Given the description of an element on the screen output the (x, y) to click on. 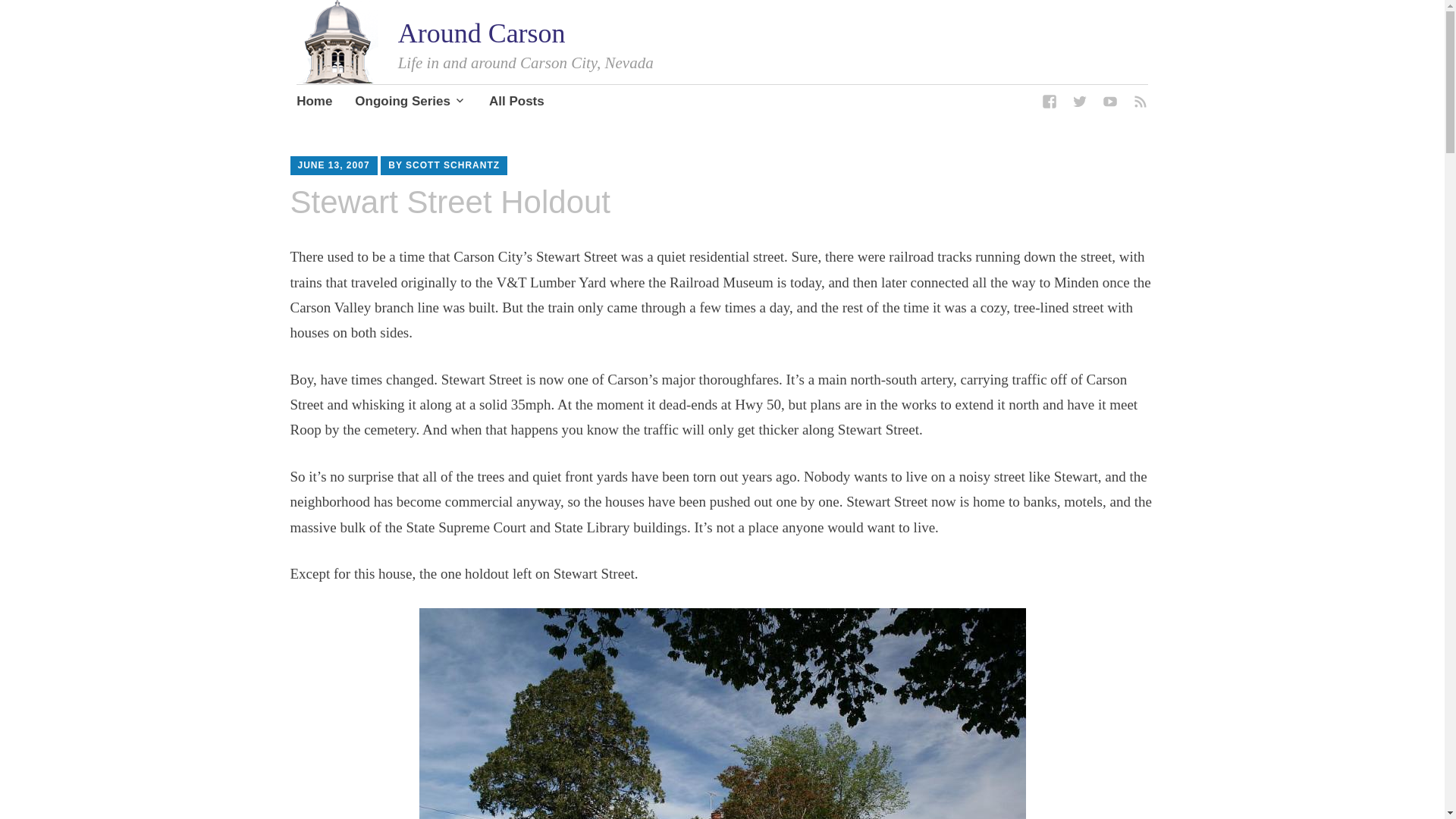
JUNE 13, 2007 (333, 164)
All Posts (516, 102)
Around Carson (481, 33)
Ongoing Series (410, 102)
Home (314, 102)
